Given the description of an element on the screen output the (x, y) to click on. 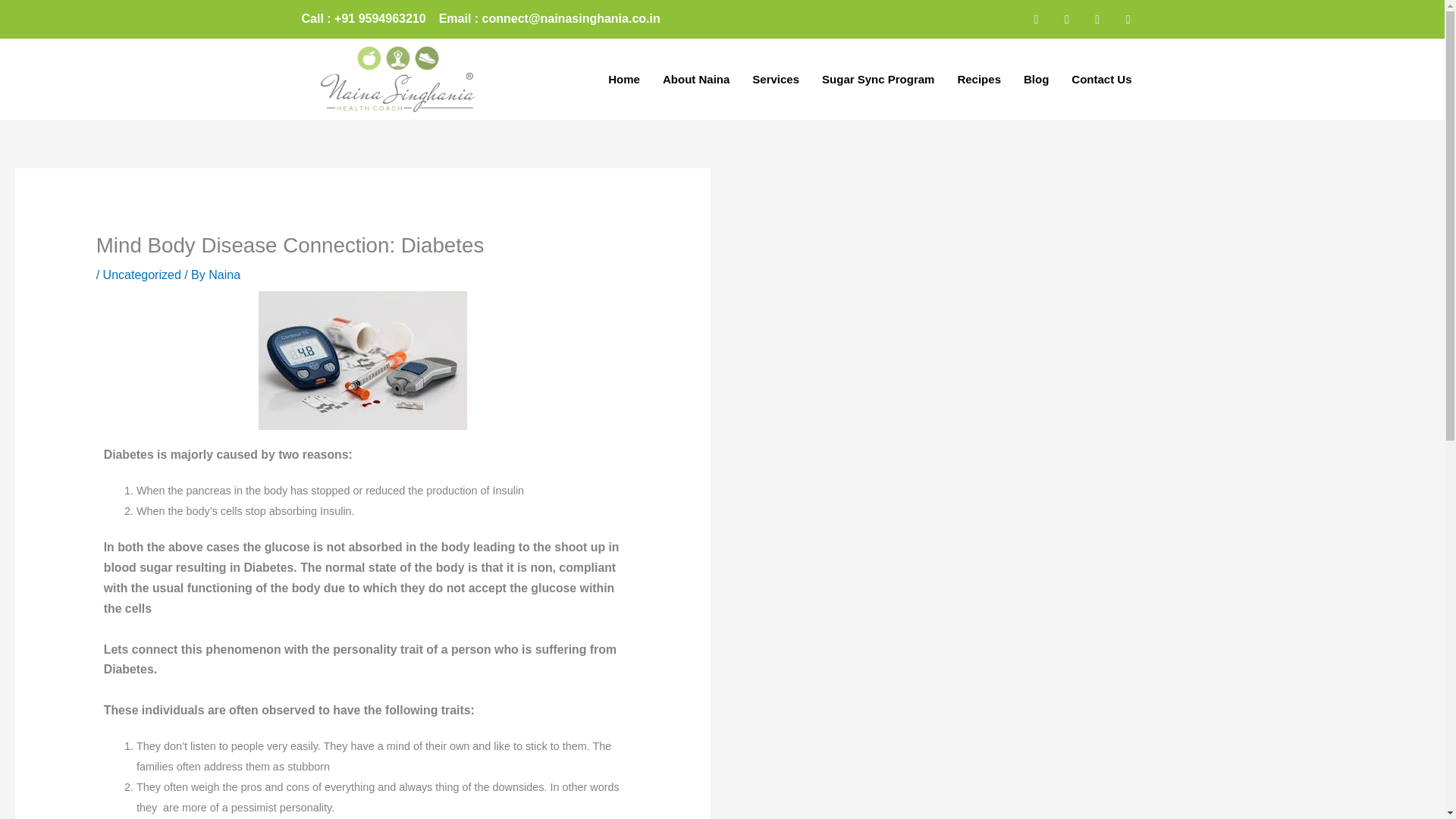
Contact Us (1100, 79)
Uncategorized (141, 274)
Blog (1035, 79)
View all posts by Naina (224, 274)
Home (623, 79)
Recipes (977, 79)
Services (775, 79)
Sugar Sync Program (877, 79)
About Naina (695, 79)
Naina (224, 274)
